Given the description of an element on the screen output the (x, y) to click on. 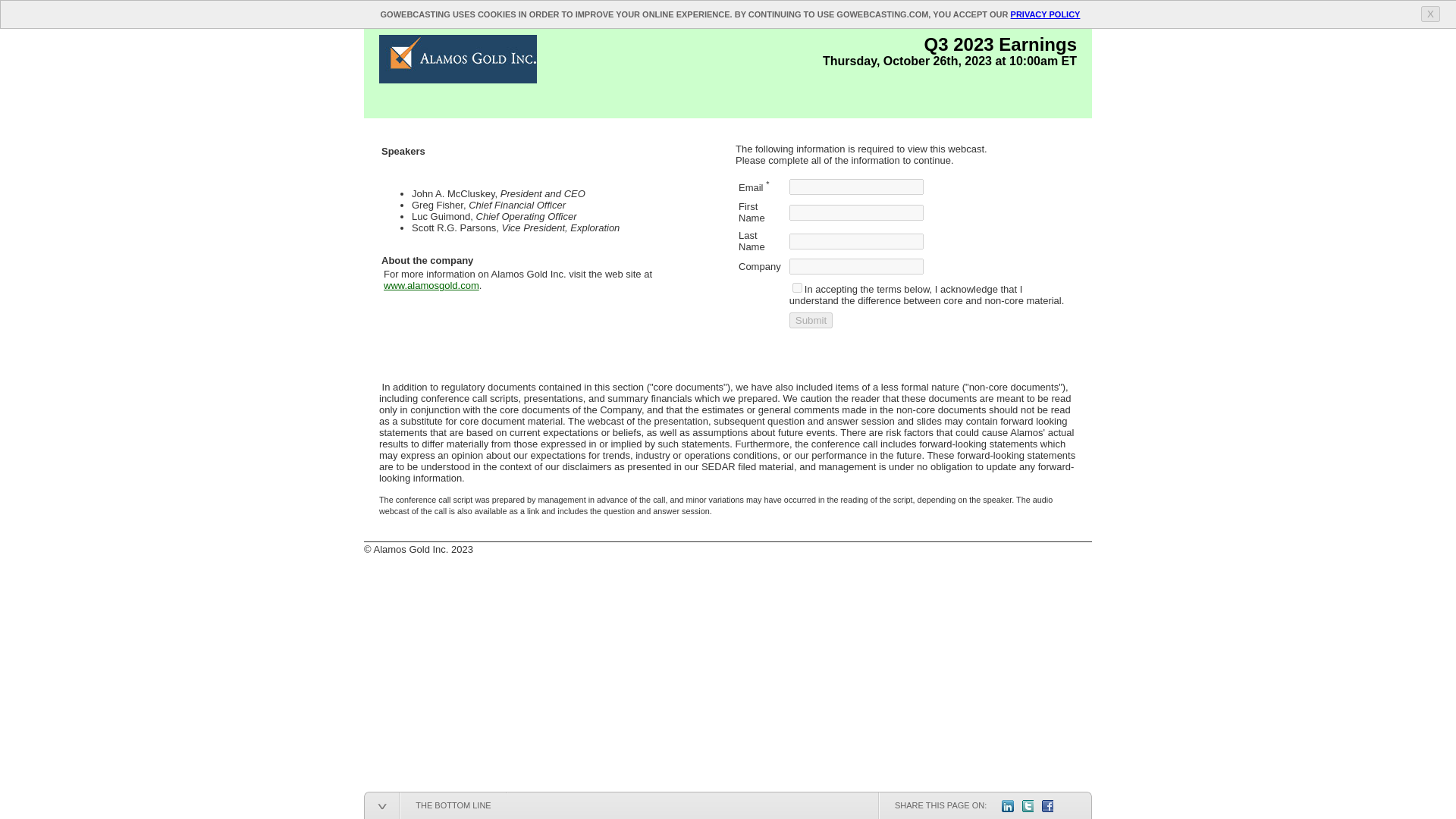
yes (797, 287)
X (1430, 13)
PRIVACY POLICY (1045, 13)
Submit (810, 320)
www.alamosgold.com (431, 285)
Submit (810, 320)
